Given the description of an element on the screen output the (x, y) to click on. 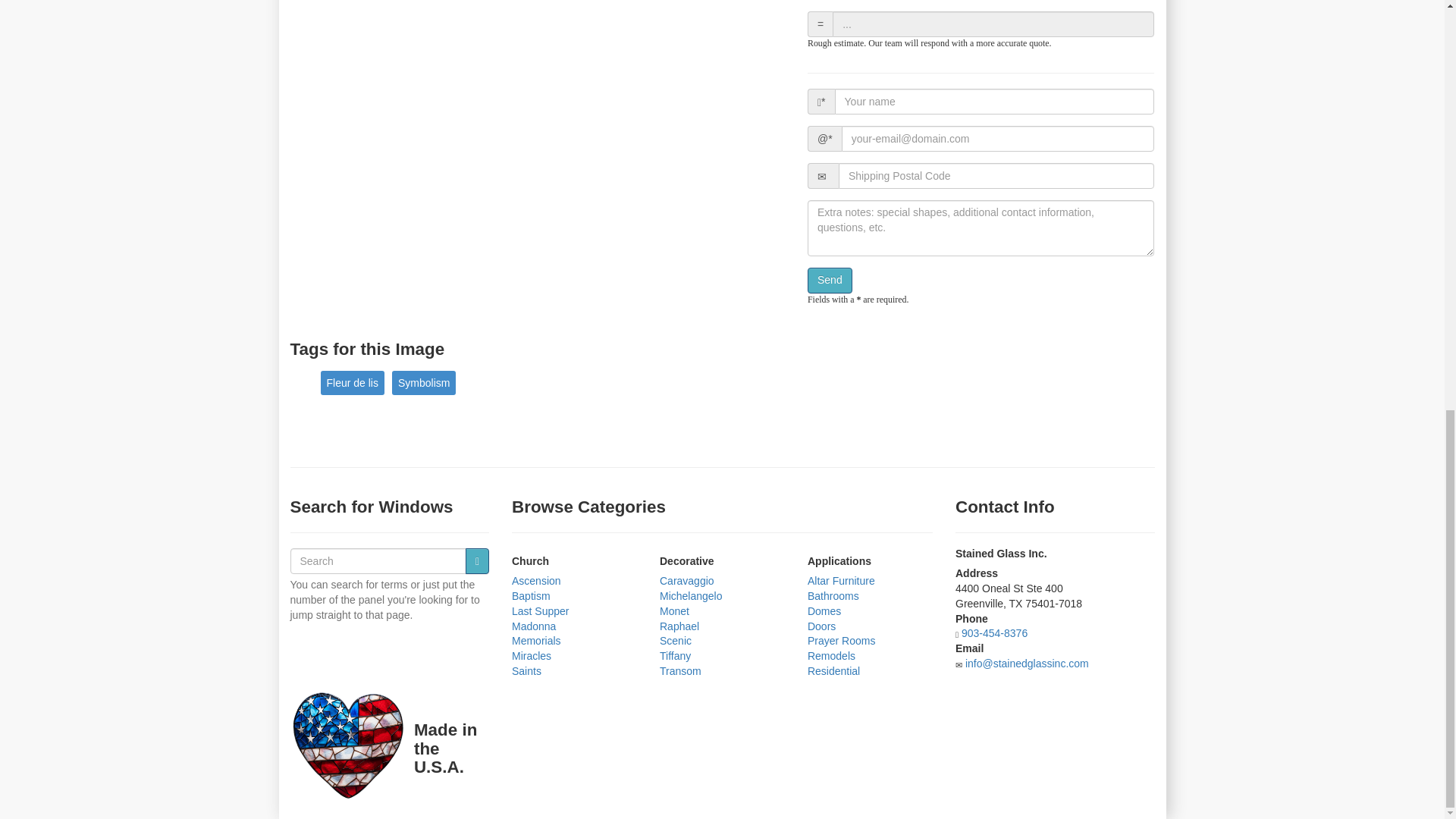
Transom (680, 671)
Saints (526, 671)
Send (829, 280)
Michelangelo (690, 595)
Monet (673, 611)
Prayer Rooms (841, 640)
Madonna (534, 625)
Remodels (832, 655)
Tiffany (674, 655)
Raphael (678, 625)
Bathrooms (833, 595)
Miracles (531, 655)
Scenic (675, 640)
Doors (821, 625)
Caravaggio (686, 580)
